Given the description of an element on the screen output the (x, y) to click on. 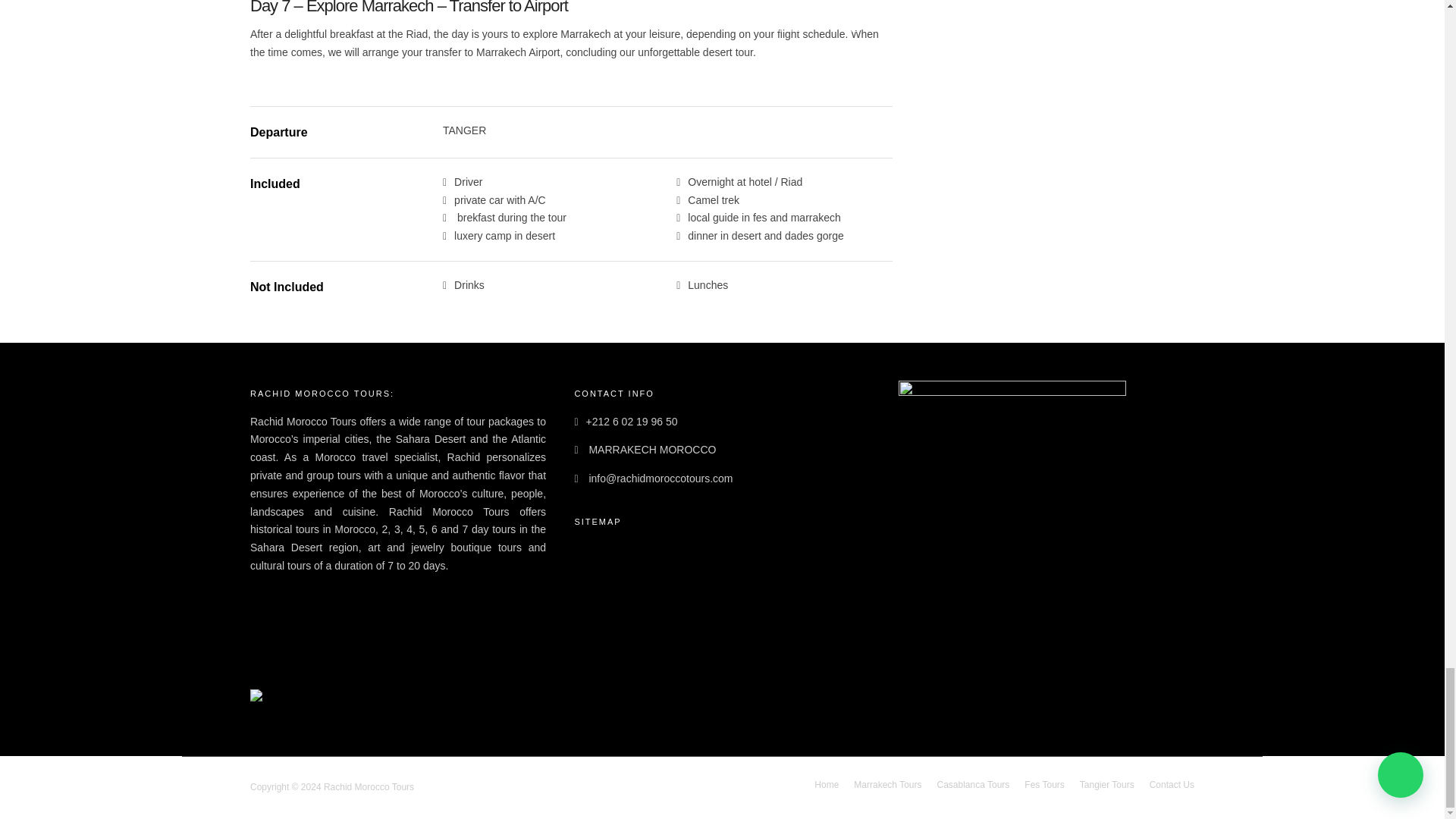
Casablanca Tours (616, 594)
Contact Us (1171, 784)
Fes Tours (1044, 784)
Tangier Tours (605, 646)
Home (825, 784)
Casablanca Tours (973, 784)
Tangier Tours (1107, 784)
Marrakech Tours (887, 784)
Marrakech Tours (612, 569)
Home (587, 543)
